Given the description of an element on the screen output the (x, y) to click on. 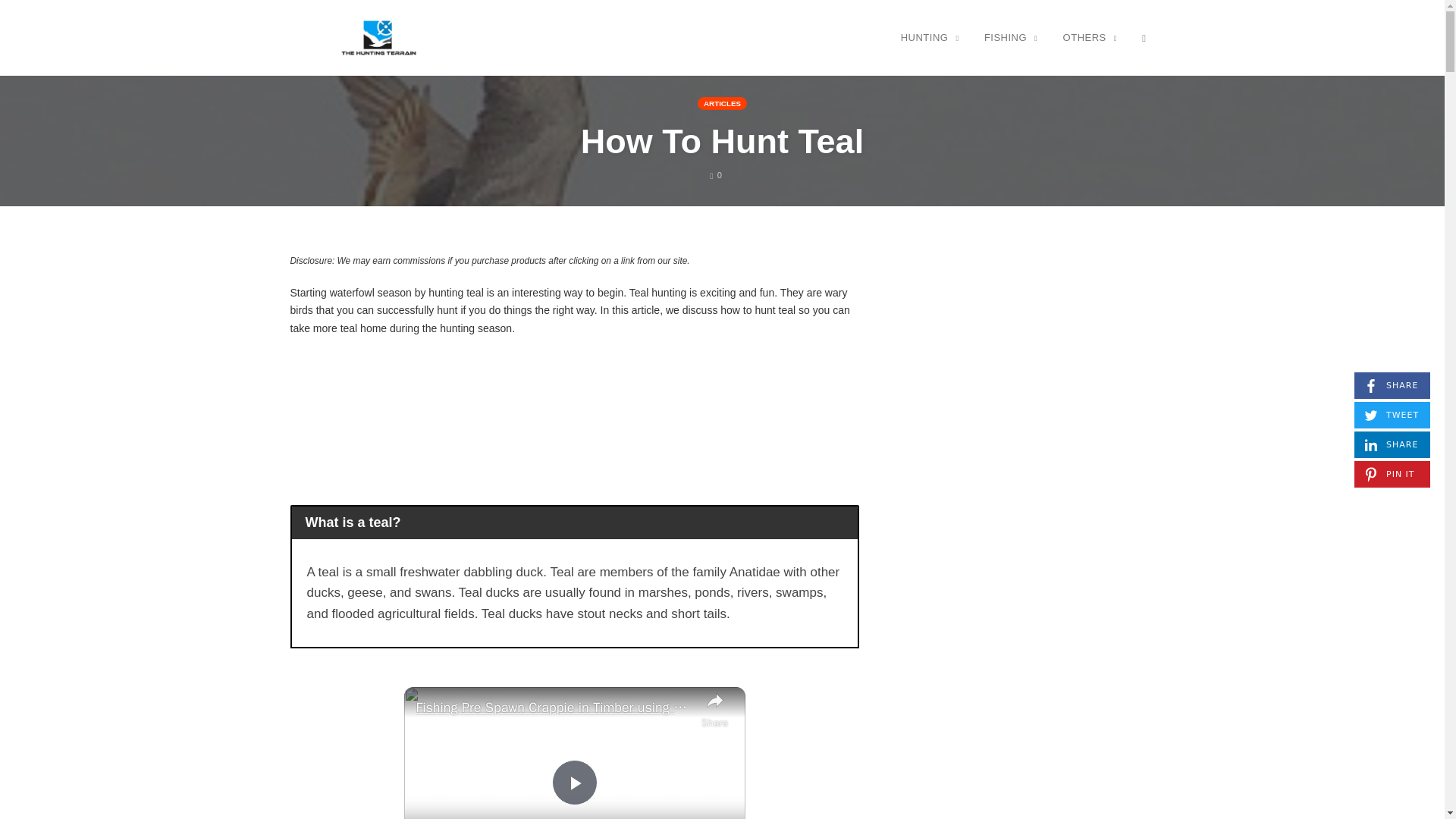
Play Video (573, 782)
OPEN SEARCH FORM (716, 174)
HUNTING (1391, 385)
Play Video (1391, 444)
Skip to content (1144, 37)
How To Hunt Teal (930, 37)
FISHING (573, 782)
OTHERS (721, 141)
